Given the description of an element on the screen output the (x, y) to click on. 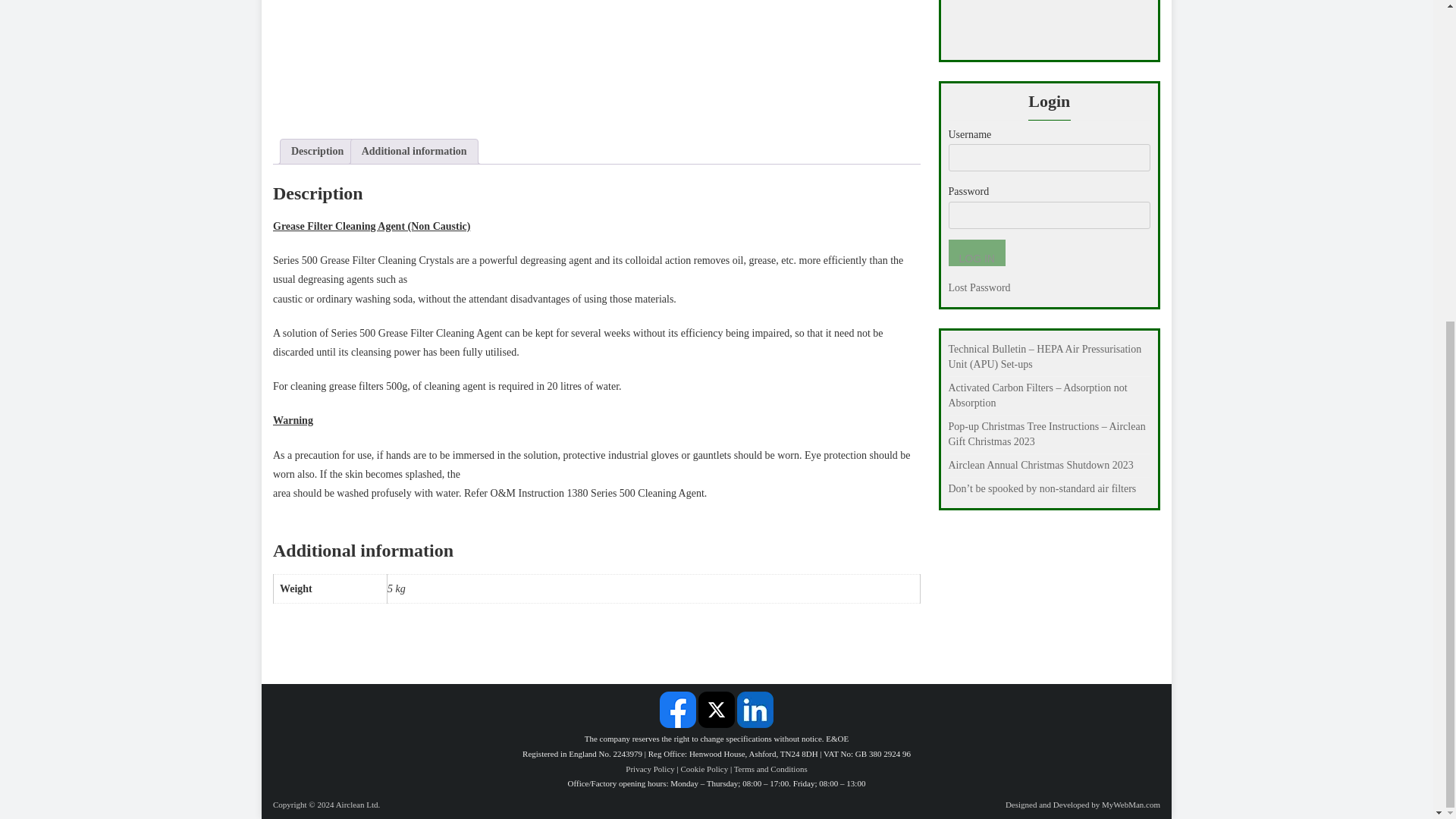
Log In (975, 252)
